Given the description of an element on the screen output the (x, y) to click on. 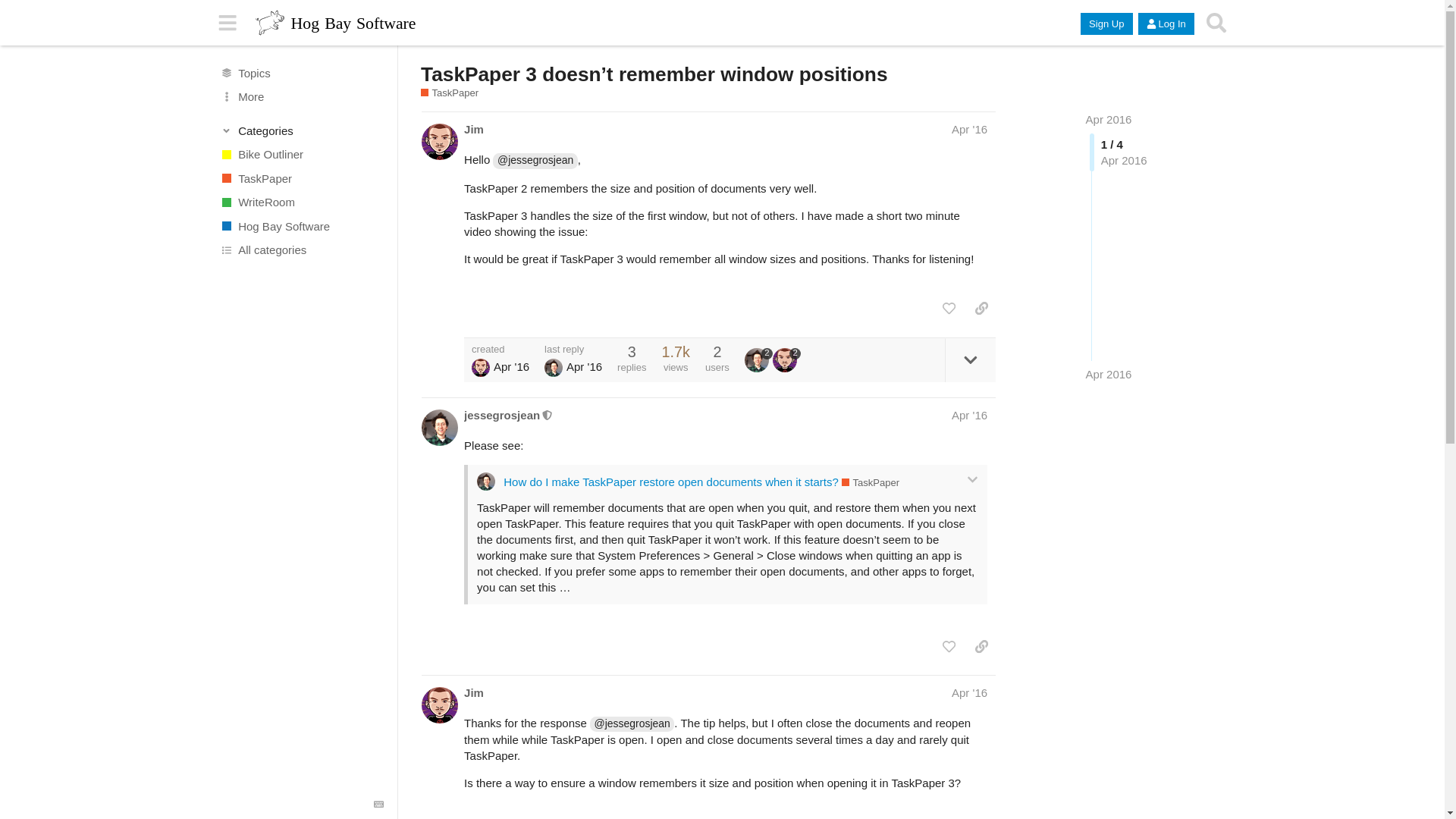
TaskPaper (301, 178)
Apr '16 (969, 128)
Distraction free writing. (301, 202)
Keyboard Shortcuts (378, 805)
Sidebar (227, 22)
Simple list making. (449, 92)
Categories (301, 130)
Apr 16, 2016 4:00 am (1109, 373)
Toggle section (301, 130)
copy a link to this post to clipboard (981, 308)
Hog Bay Software (301, 225)
Topics (301, 72)
Hog Bay Software general discussion. (301, 225)
Apr 2016 (1109, 119)
Sign Up (1106, 24)
